Given the description of an element on the screen output the (x, y) to click on. 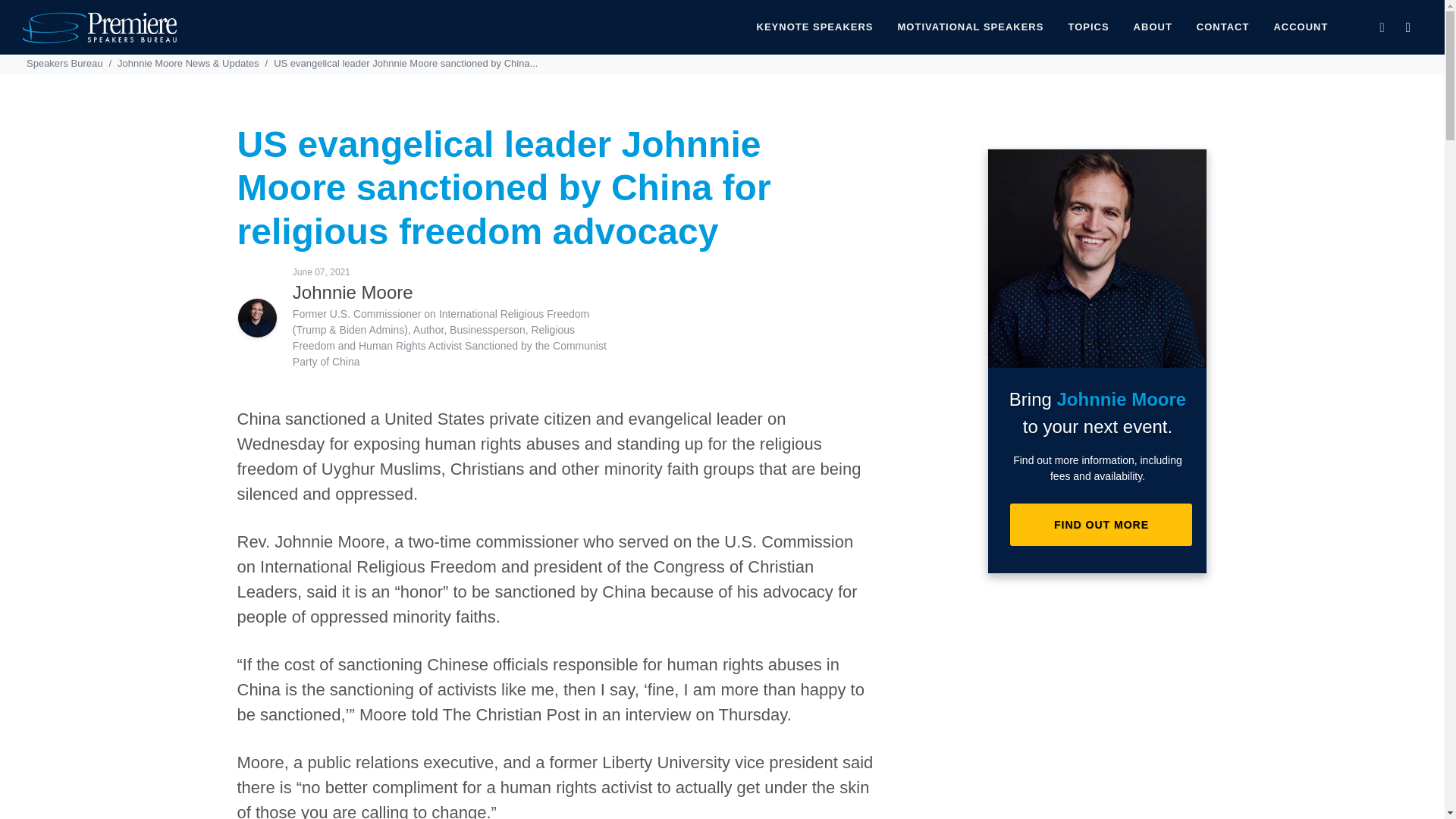
FIND OUT MORE (1101, 524)
MOTIVATIONAL SPEAKERS (970, 27)
CONTACT (1222, 27)
ABOUT (1152, 27)
KEYNOTE SPEAKERS (815, 27)
Speakers Bureau (63, 62)
TOPICS (1088, 27)
ACCOUNT (1300, 27)
